Given the description of an element on the screen output the (x, y) to click on. 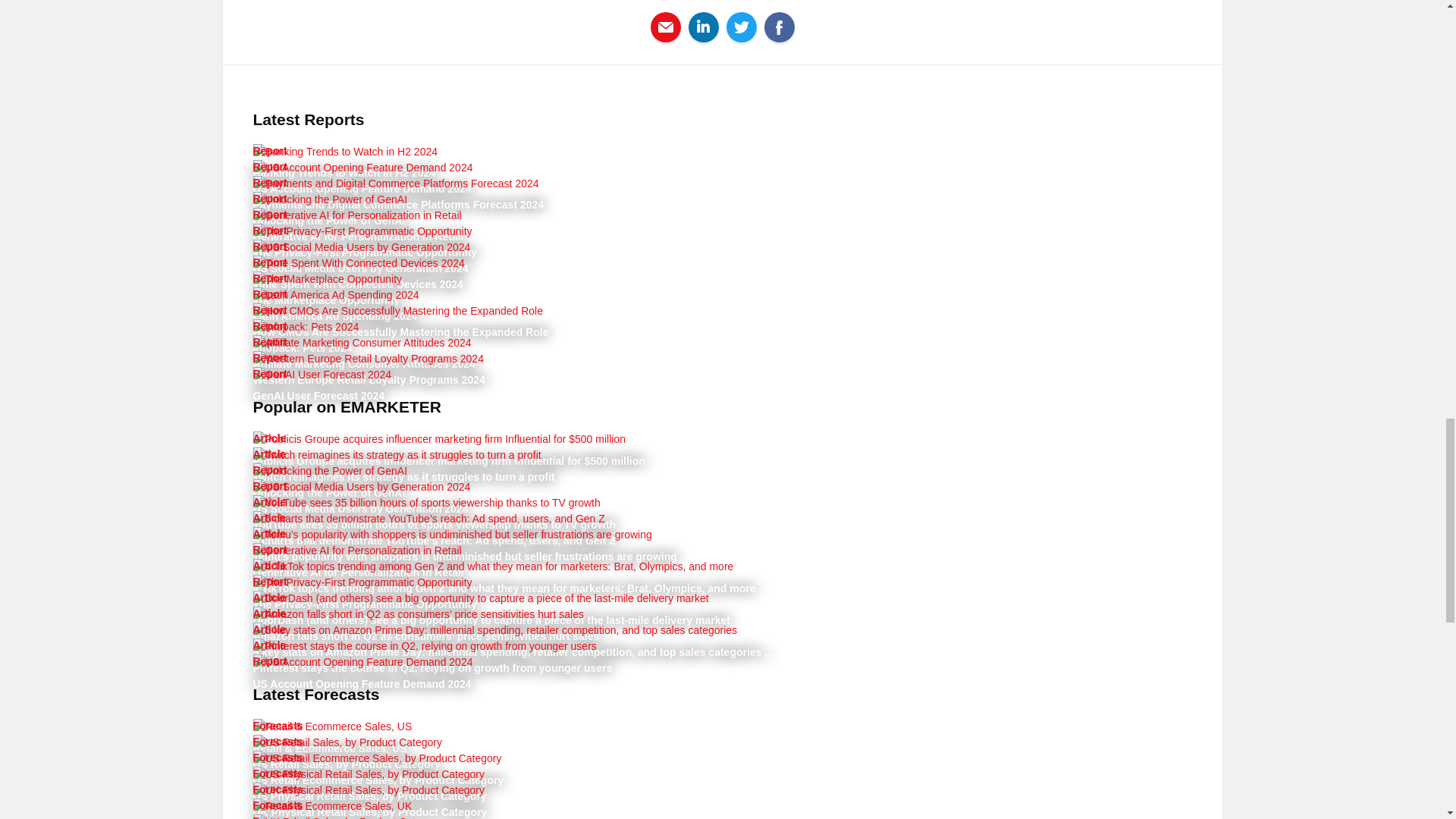
Share via Facebook (779, 26)
Share via Email (665, 26)
